Given the description of an element on the screen output the (x, y) to click on. 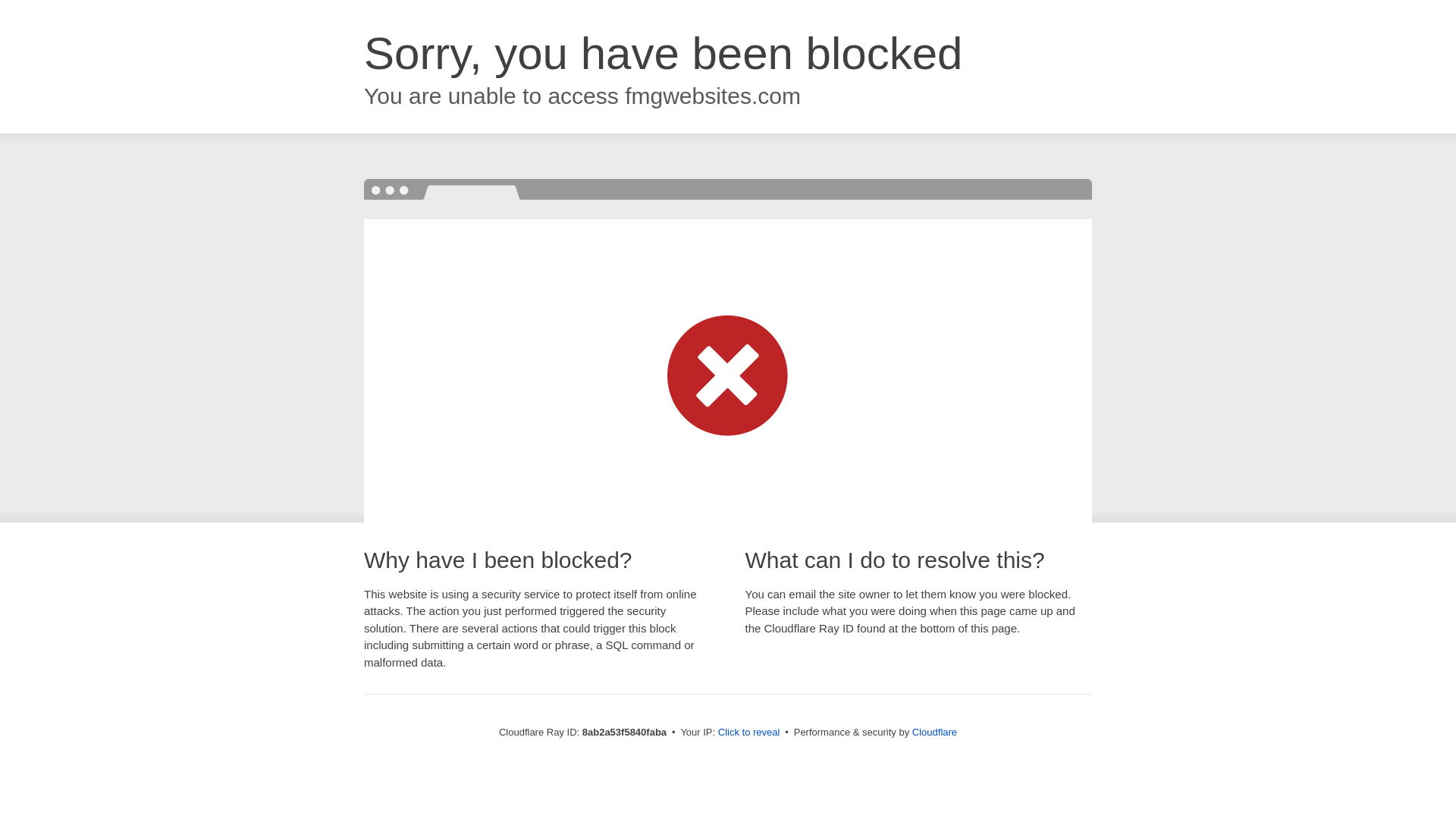
Cloudflare (934, 731)
Click to reveal (748, 732)
